Given the description of an element on the screen output the (x, y) to click on. 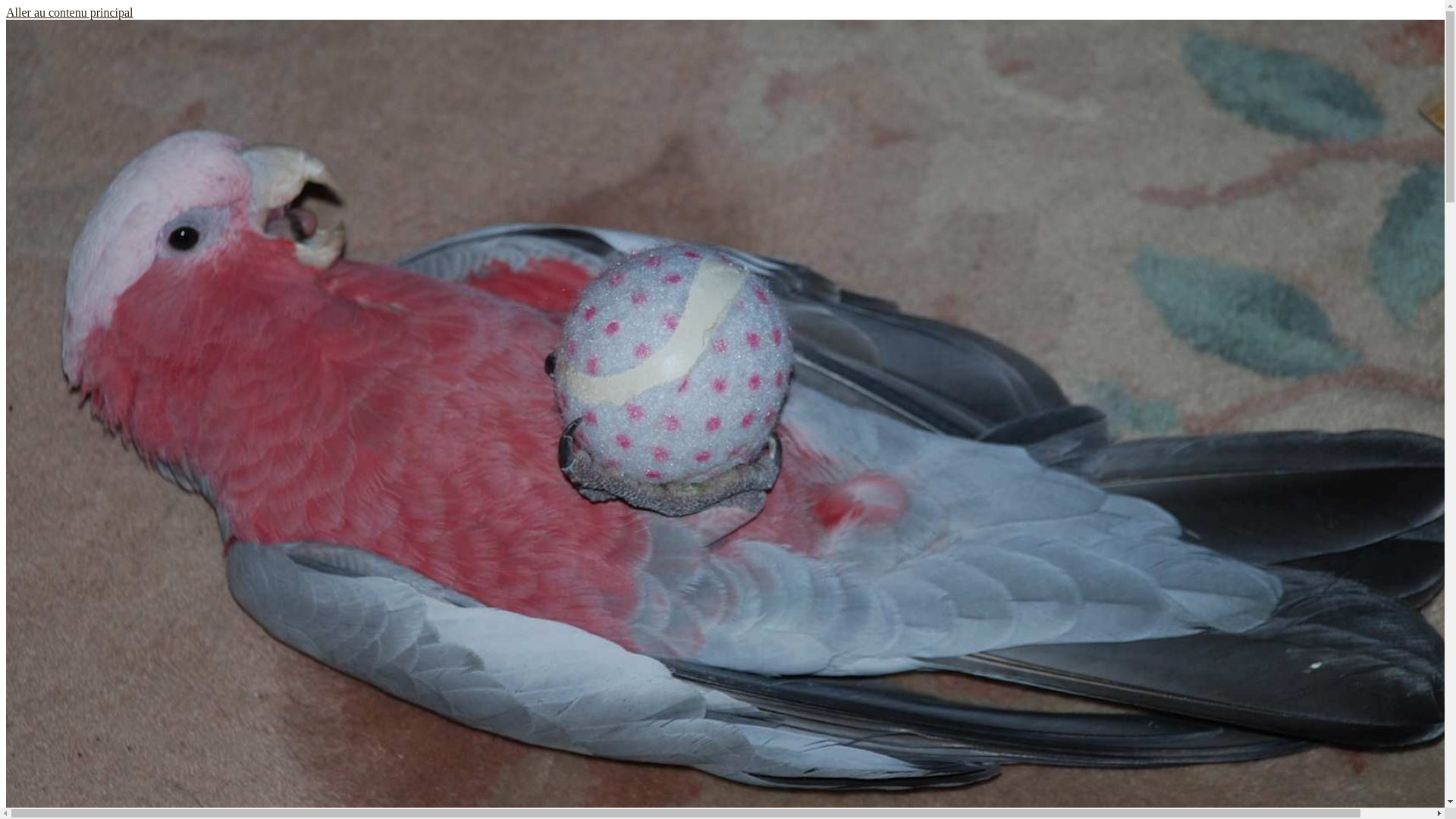
Aller au contenu principal Element type: text (69, 12)
